Given the description of an element on the screen output the (x, y) to click on. 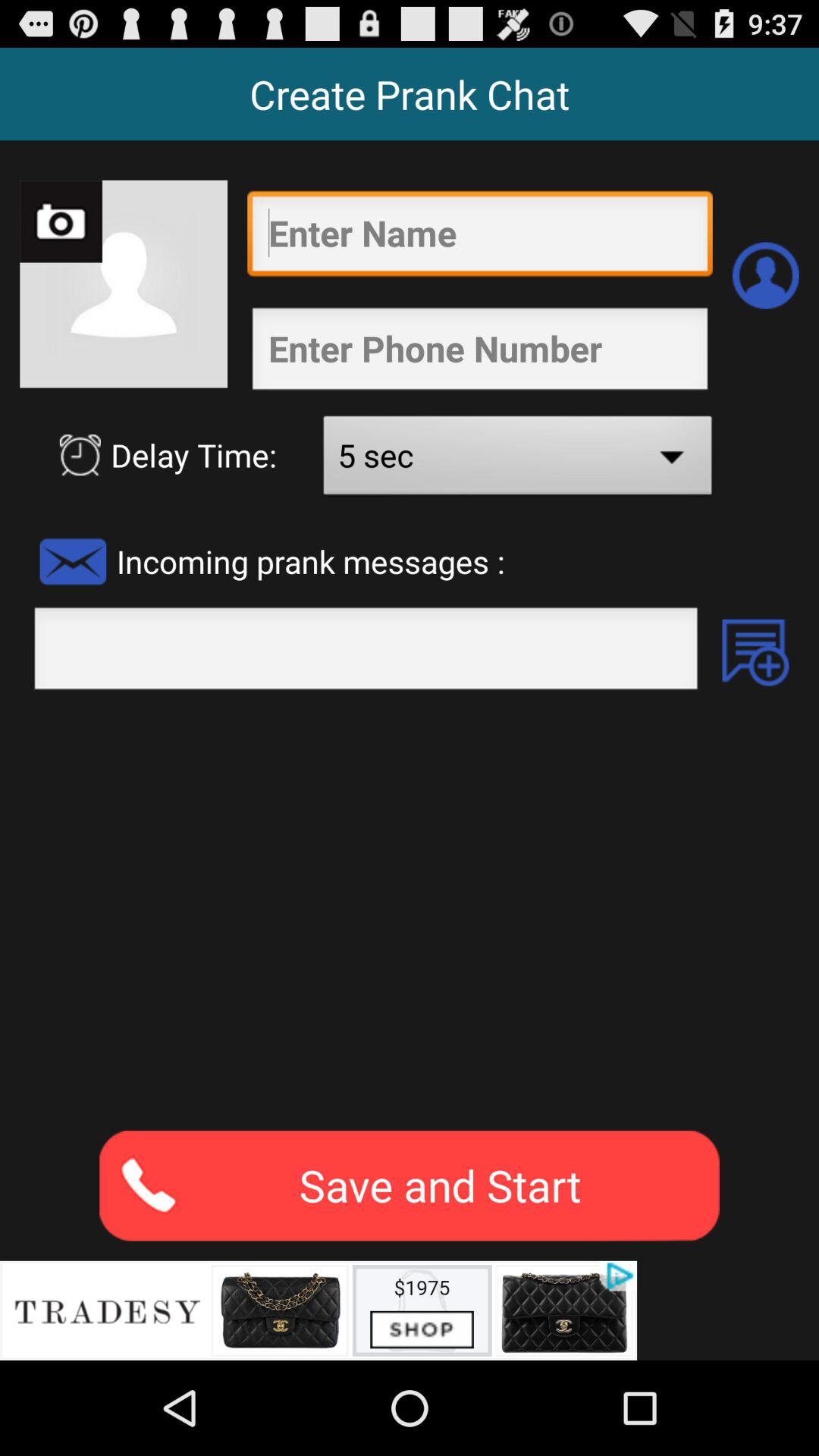
blank column (365, 652)
